Given the description of an element on the screen output the (x, y) to click on. 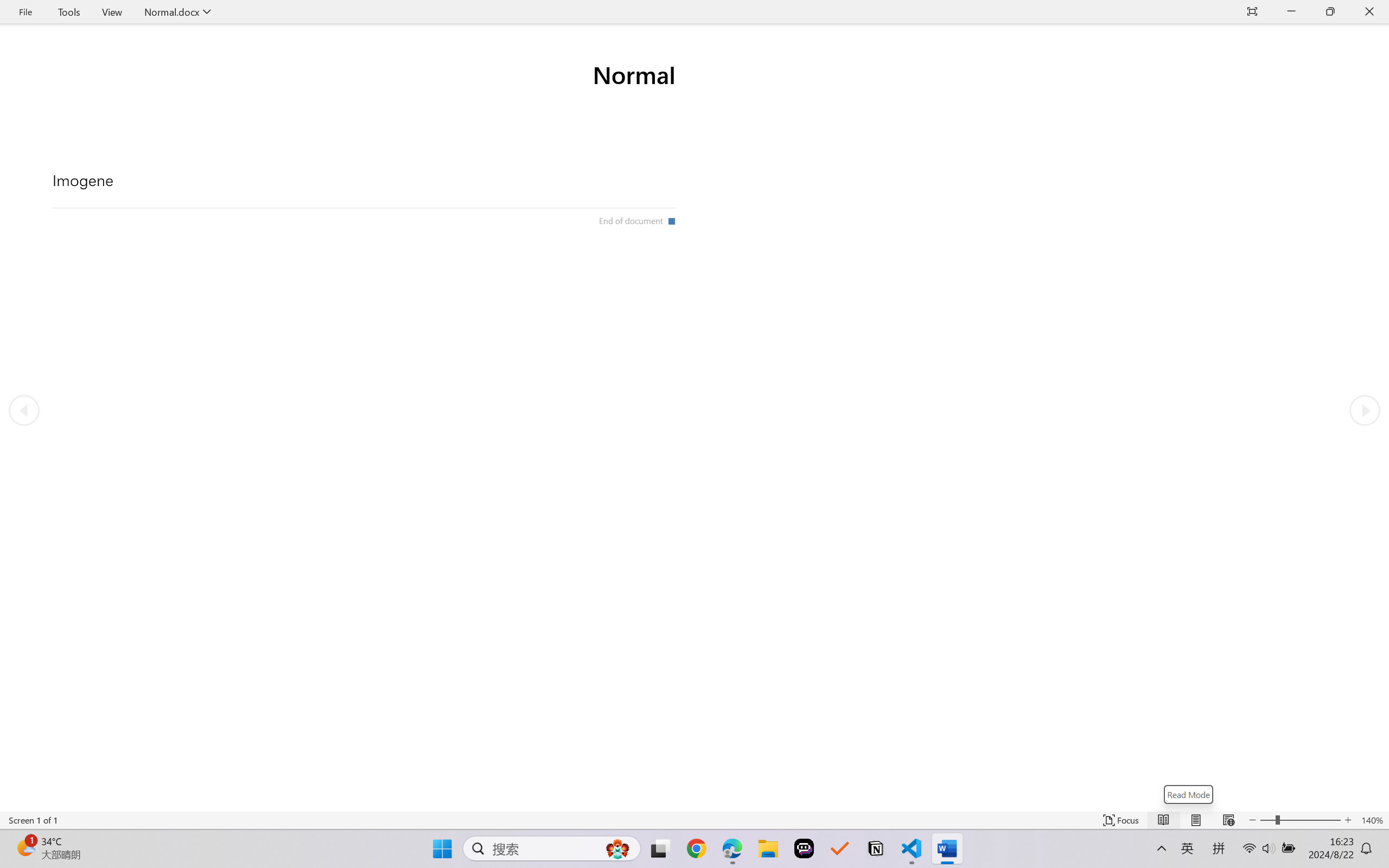
Auto-hide Reading Toolbar (1252, 11)
Increase Text Size (1348, 819)
Class: MsoCommandBar (694, 819)
